Given the description of an element on the screen output the (x, y) to click on. 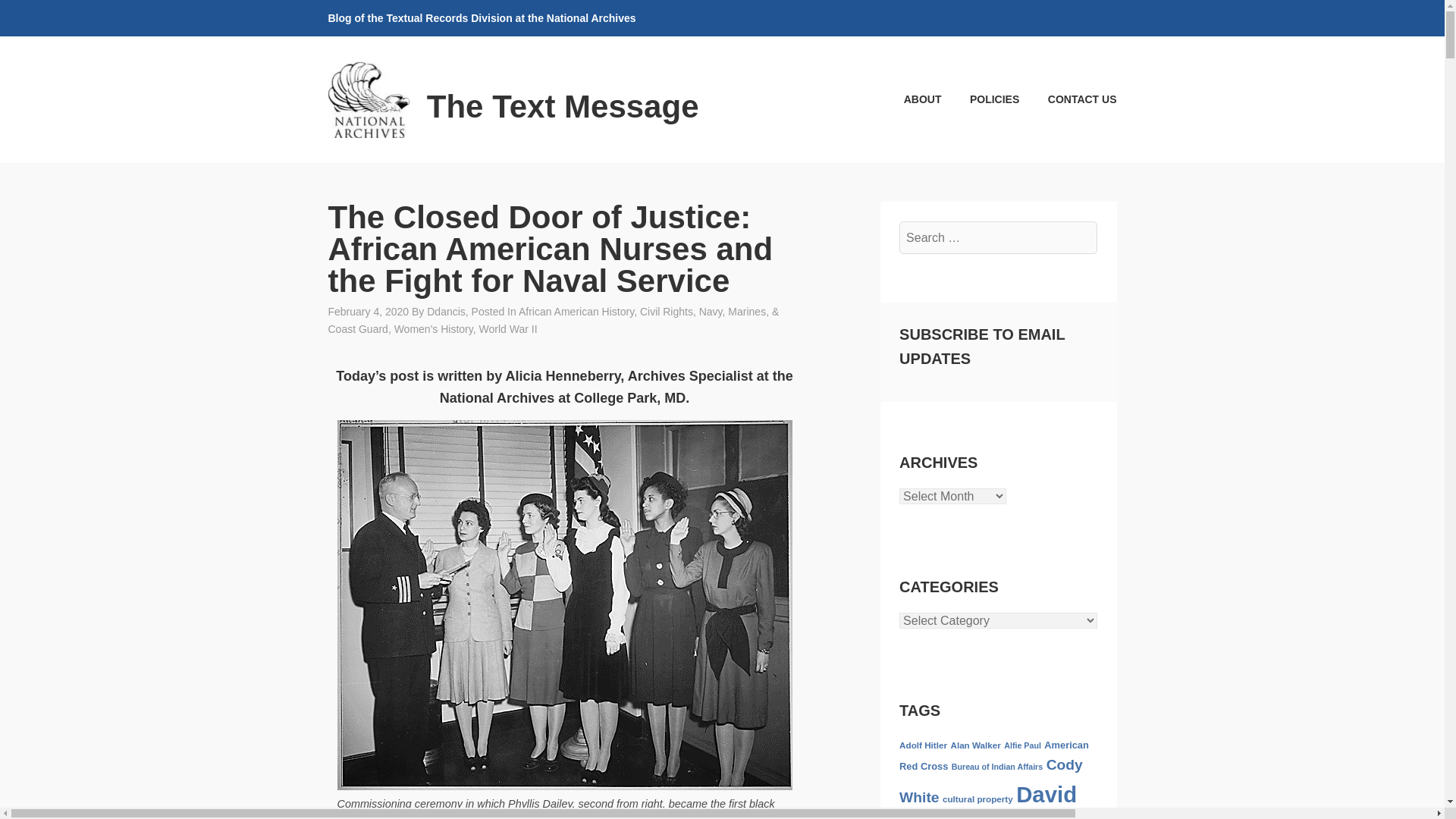
NAID 520618 (609, 816)
World War II (508, 328)
POLICIES (981, 99)
African American History (575, 311)
Ddancis (445, 311)
ABOUT (908, 99)
The Text Message (562, 106)
Women'S History (433, 328)
Civil Rights (666, 311)
CONTACT US (1069, 99)
February 4, 2020 (368, 311)
